Given the description of an element on the screen output the (x, y) to click on. 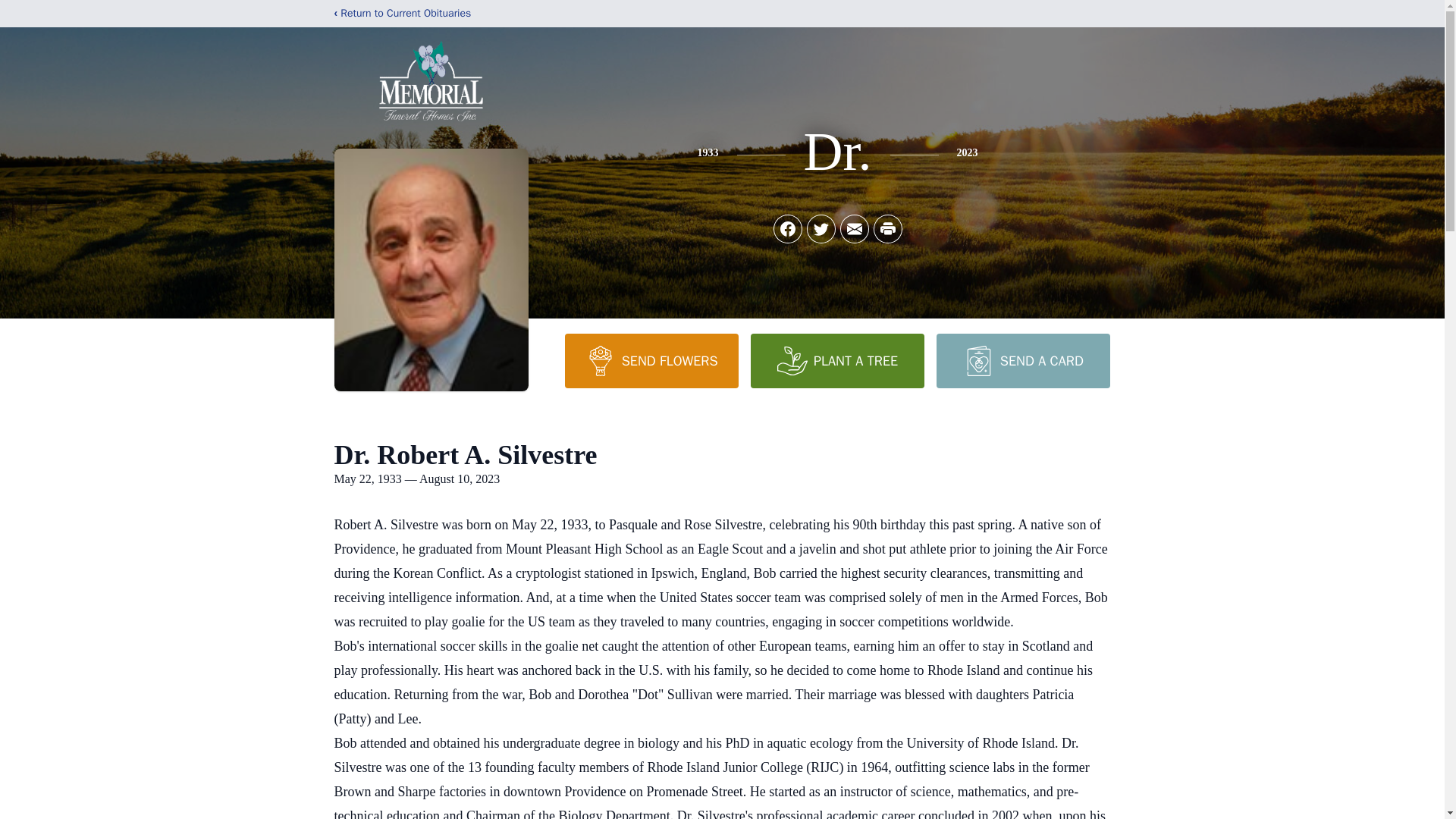
SEND A CARD (1022, 360)
PLANT A TREE (837, 360)
SEND FLOWERS (651, 360)
